Given the description of an element on the screen output the (x, y) to click on. 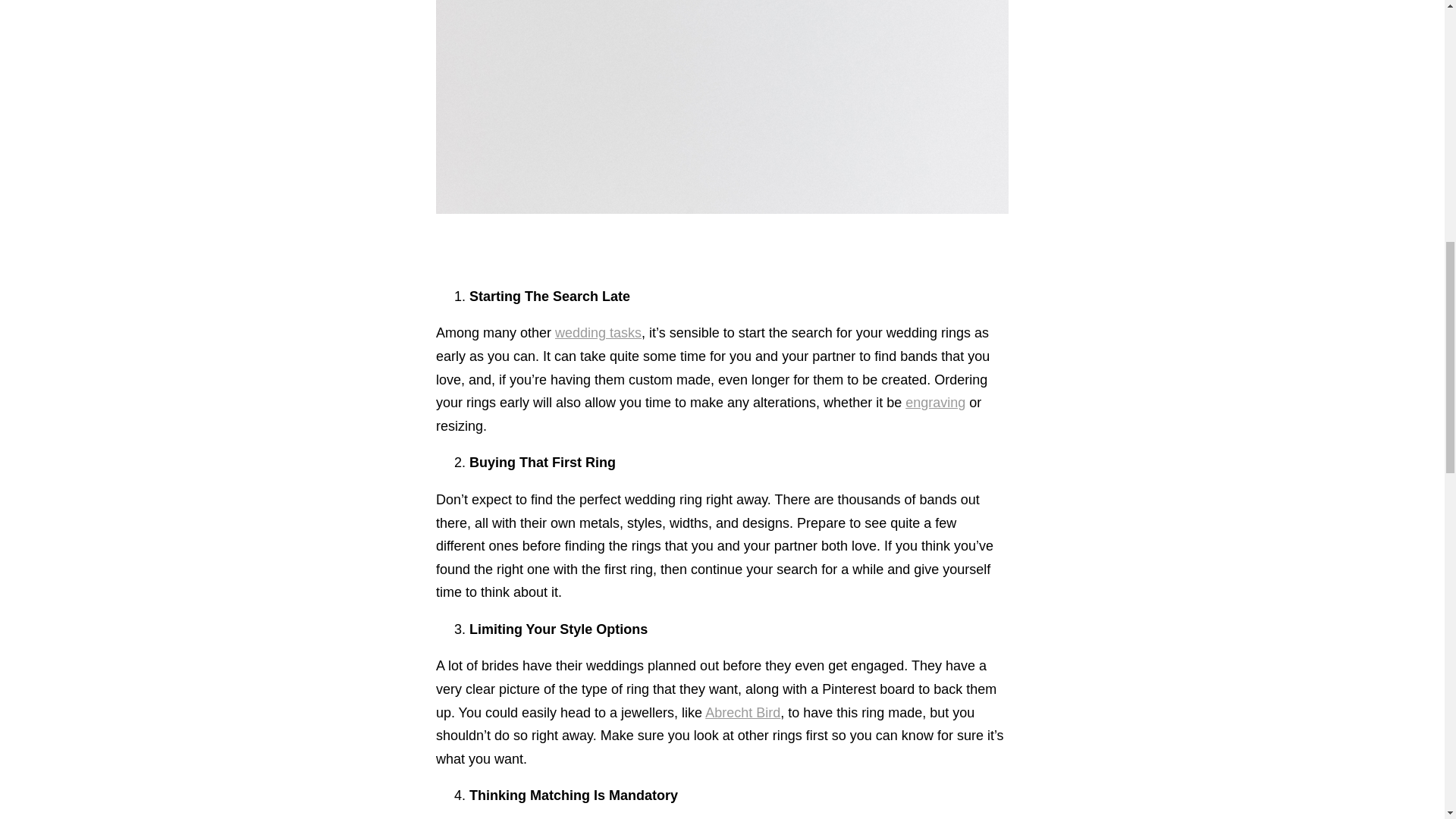
wedding tasks (598, 332)
Abrecht Bird (742, 712)
engraving (935, 402)
